Given the description of an element on the screen output the (x, y) to click on. 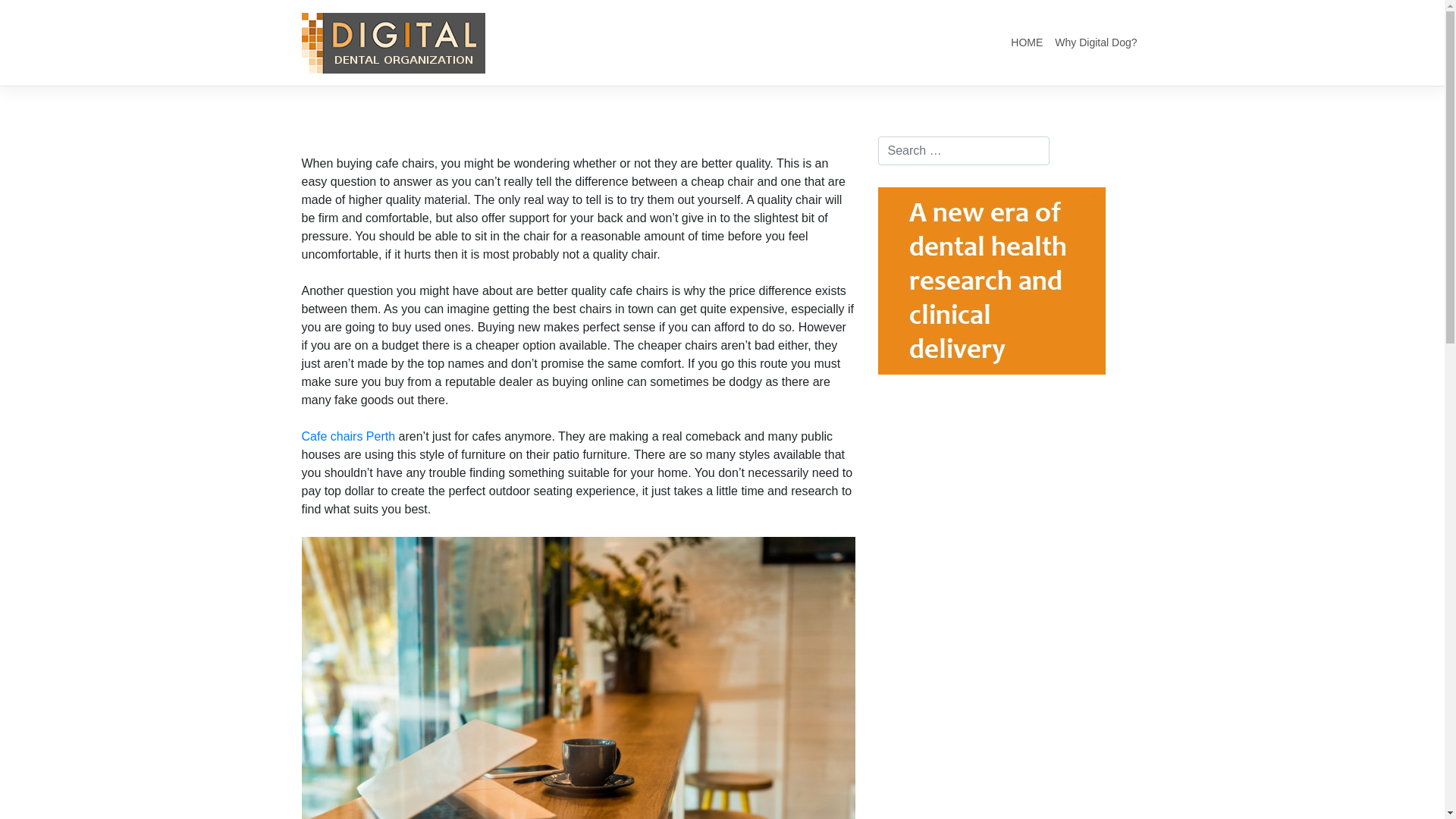
Search Element type: text (29, 14)
HOME Element type: text (1026, 42)
Search for: Element type: hover (963, 150)
Cafe chairs Perth Element type: text (348, 435)
Why Digital Dog? Element type: text (1095, 42)
